Given the description of an element on the screen output the (x, y) to click on. 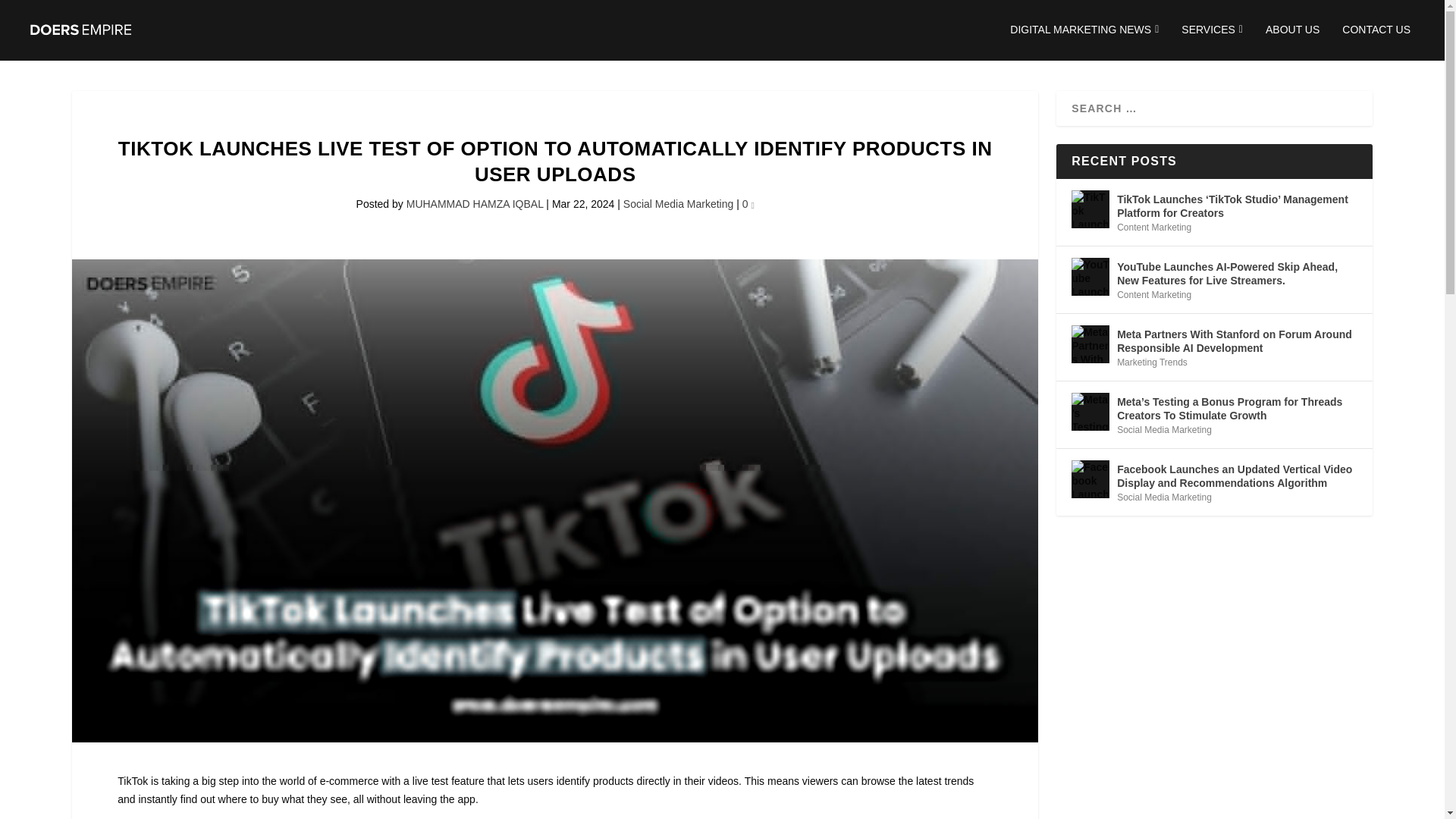
ABOUT US (1292, 41)
CONTACT US (1376, 41)
DIGITAL MARKETING NEWS (1084, 41)
MUHAMMAD HAMZA IQBAL (474, 203)
Posts by MUHAMMAD HAMZA IQBAL (474, 203)
SERVICES (1211, 41)
0 (748, 203)
Social Media Marketing (678, 203)
